Given the description of an element on the screen output the (x, y) to click on. 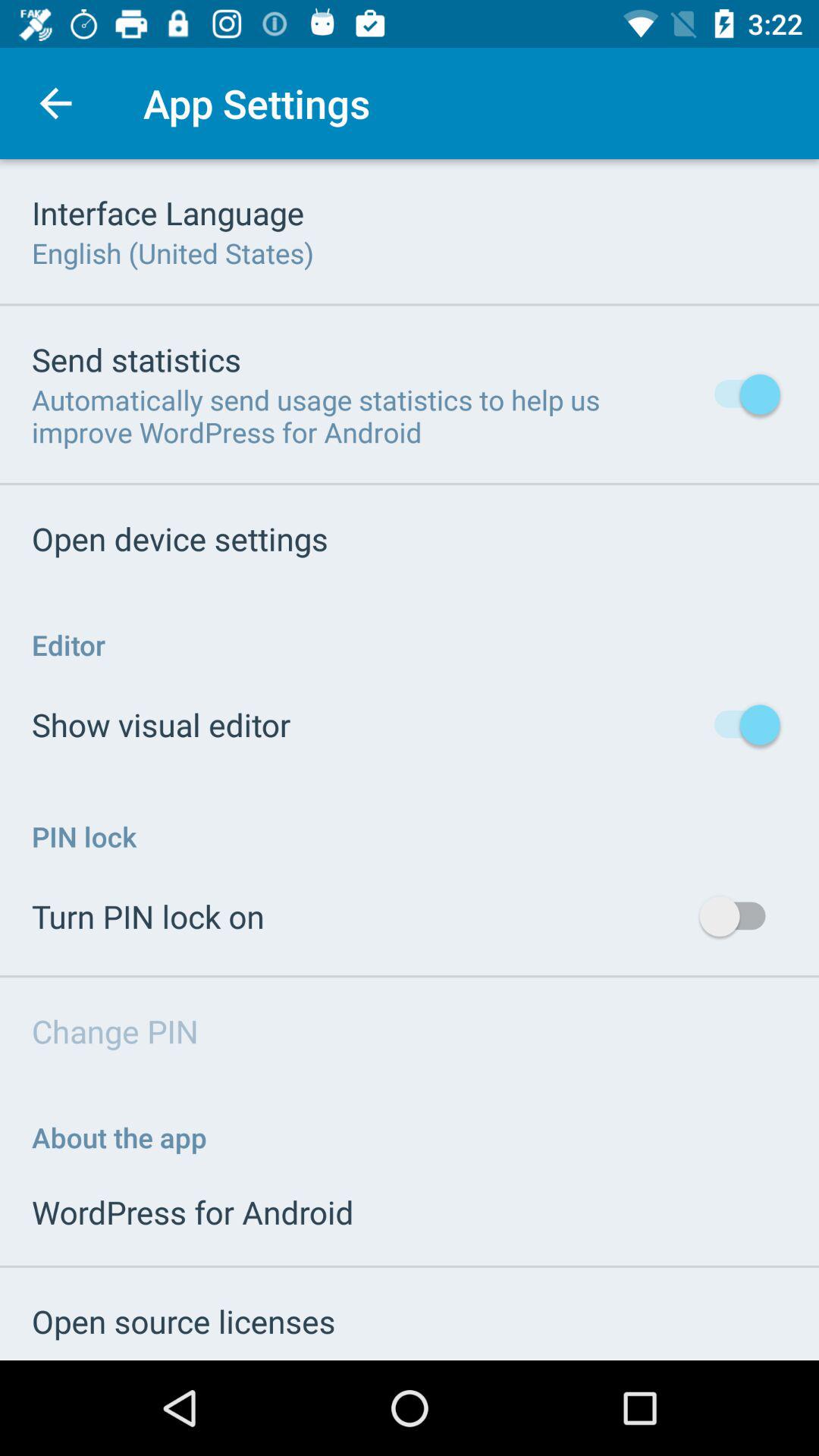
jump until automatically send usage item (361, 416)
